Given the description of an element on the screen output the (x, y) to click on. 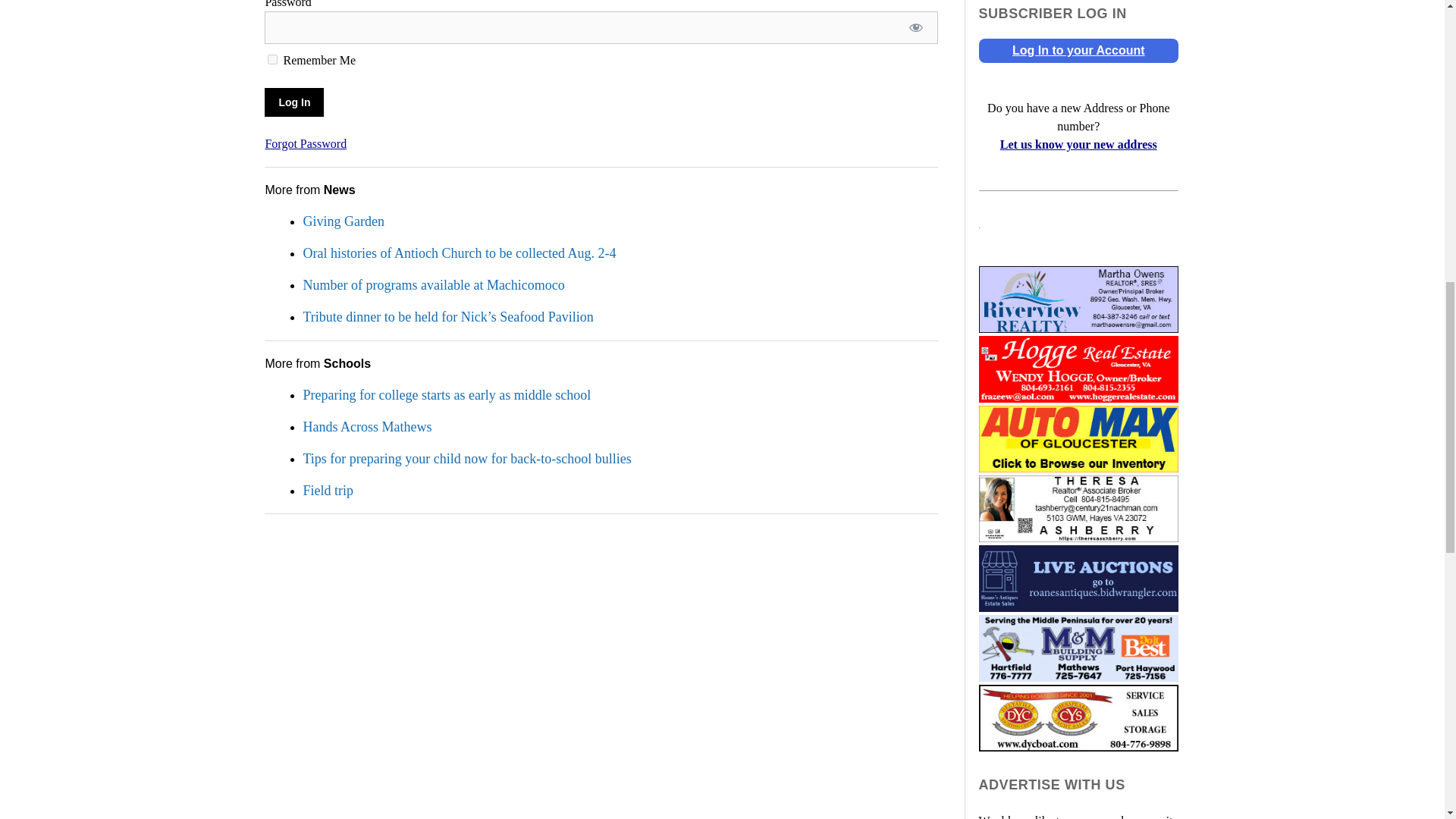
forever (272, 59)
Log In (293, 102)
